Given the description of an element on the screen output the (x, y) to click on. 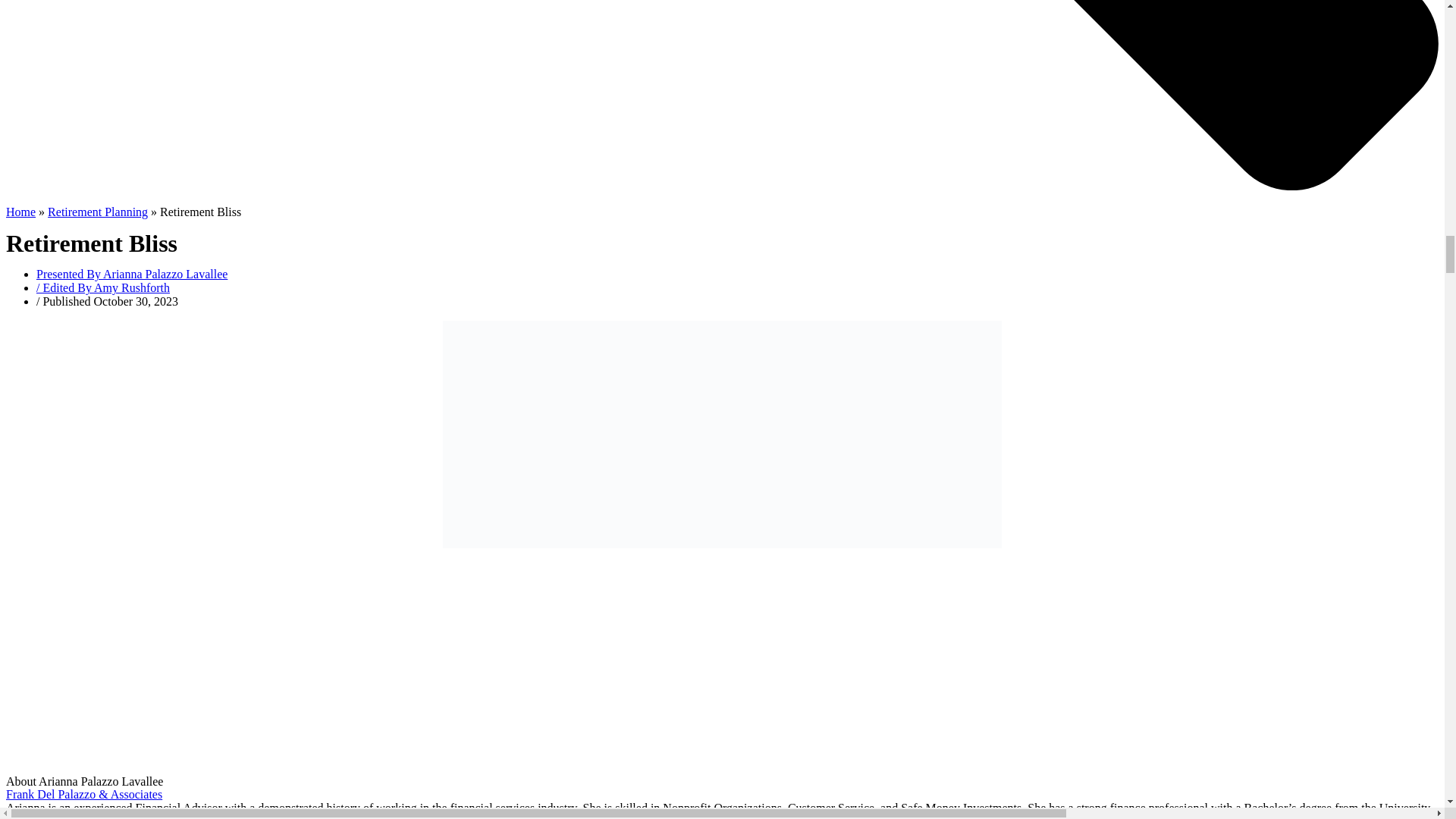
Retirement Planning (98, 211)
Home (19, 211)
Presented By Arianna Palazzo Lavallee (131, 273)
